Given the description of an element on the screen output the (x, y) to click on. 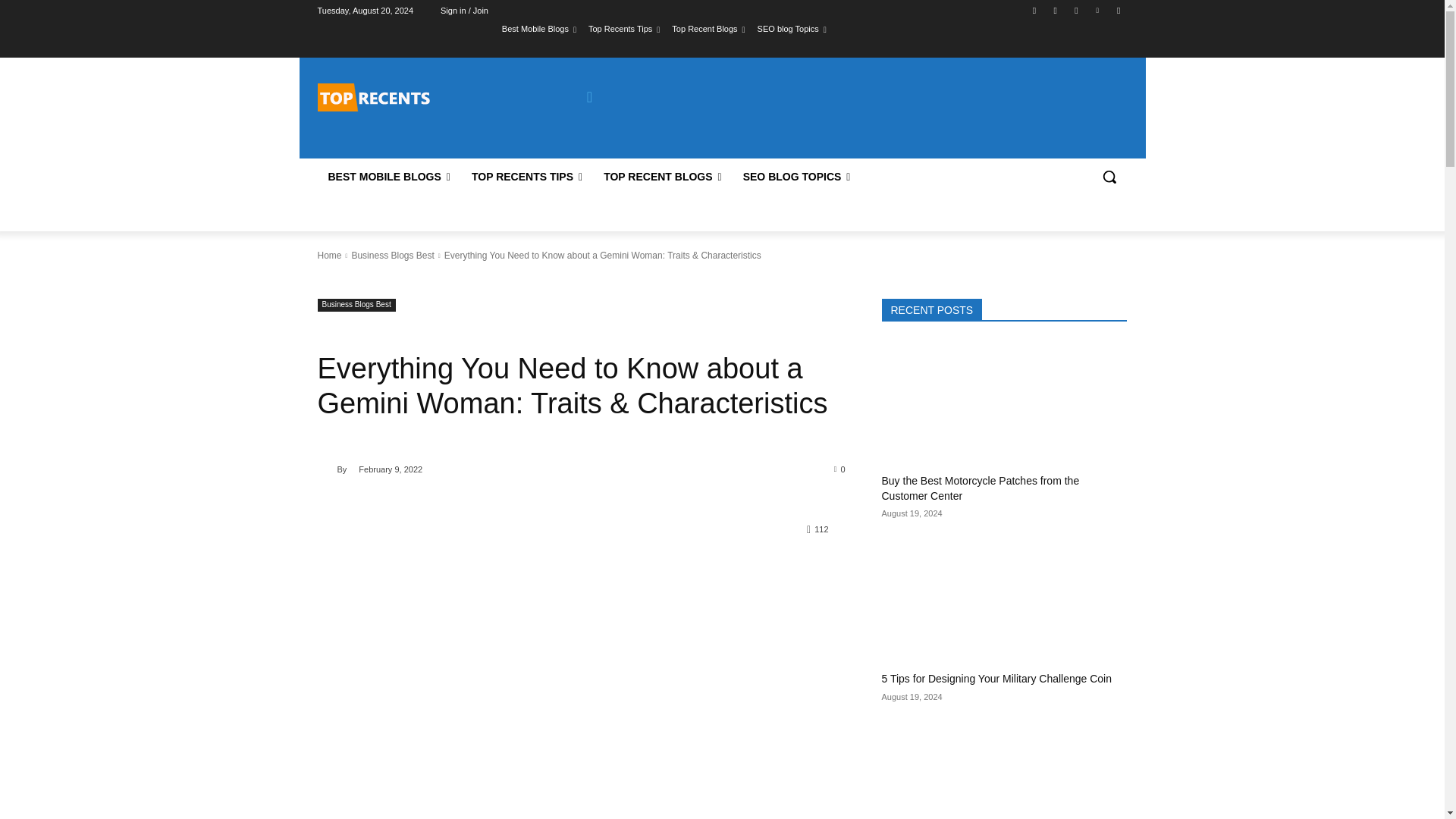
Vimeo (1097, 9)
View all posts in Business Blogs Best (391, 255)
Twitter (1075, 9)
Facebook (1034, 9)
Youtube (1117, 9)
Top Recents  (373, 97)
Top Recents  (425, 97)
Instagram (1055, 9)
